Given the description of an element on the screen output the (x, y) to click on. 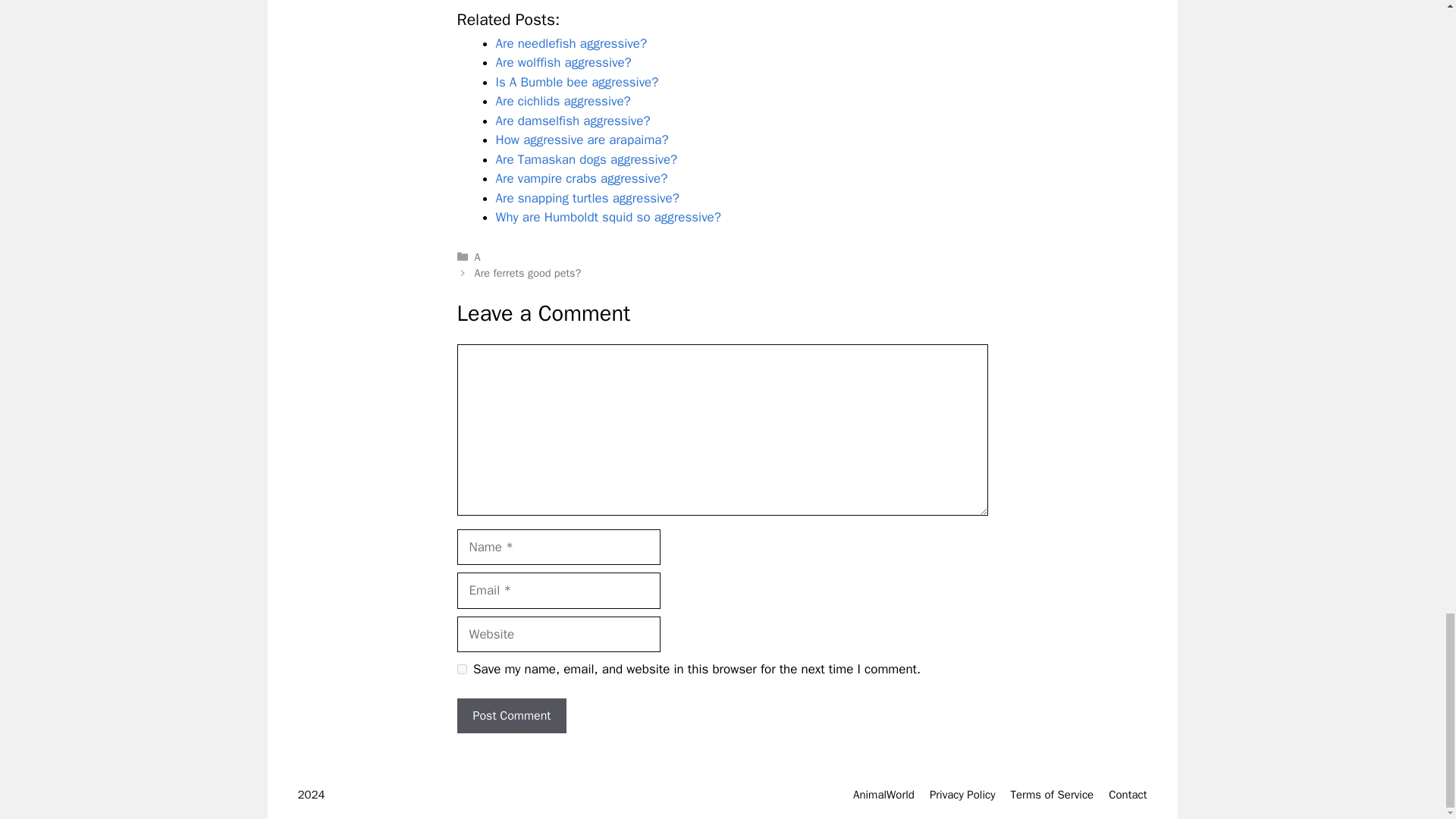
Are ferrets good pets? (527, 273)
yes (461, 669)
Are wolffish aggressive? (563, 62)
Are damselfish aggressive? (573, 120)
Privacy Policy (962, 794)
Are needlefish aggressive? (571, 43)
Are vampire crabs aggressive? (582, 178)
Why are Humboldt squid so aggressive? (608, 217)
Are needlefish aggressive? (571, 43)
Post Comment (511, 715)
AnimalWorld (883, 794)
Post Comment (511, 715)
How aggressive are arapaima? (582, 139)
Are cichlids aggressive? (563, 100)
Are snapping turtles aggressive? (587, 198)
